Given the description of an element on the screen output the (x, y) to click on. 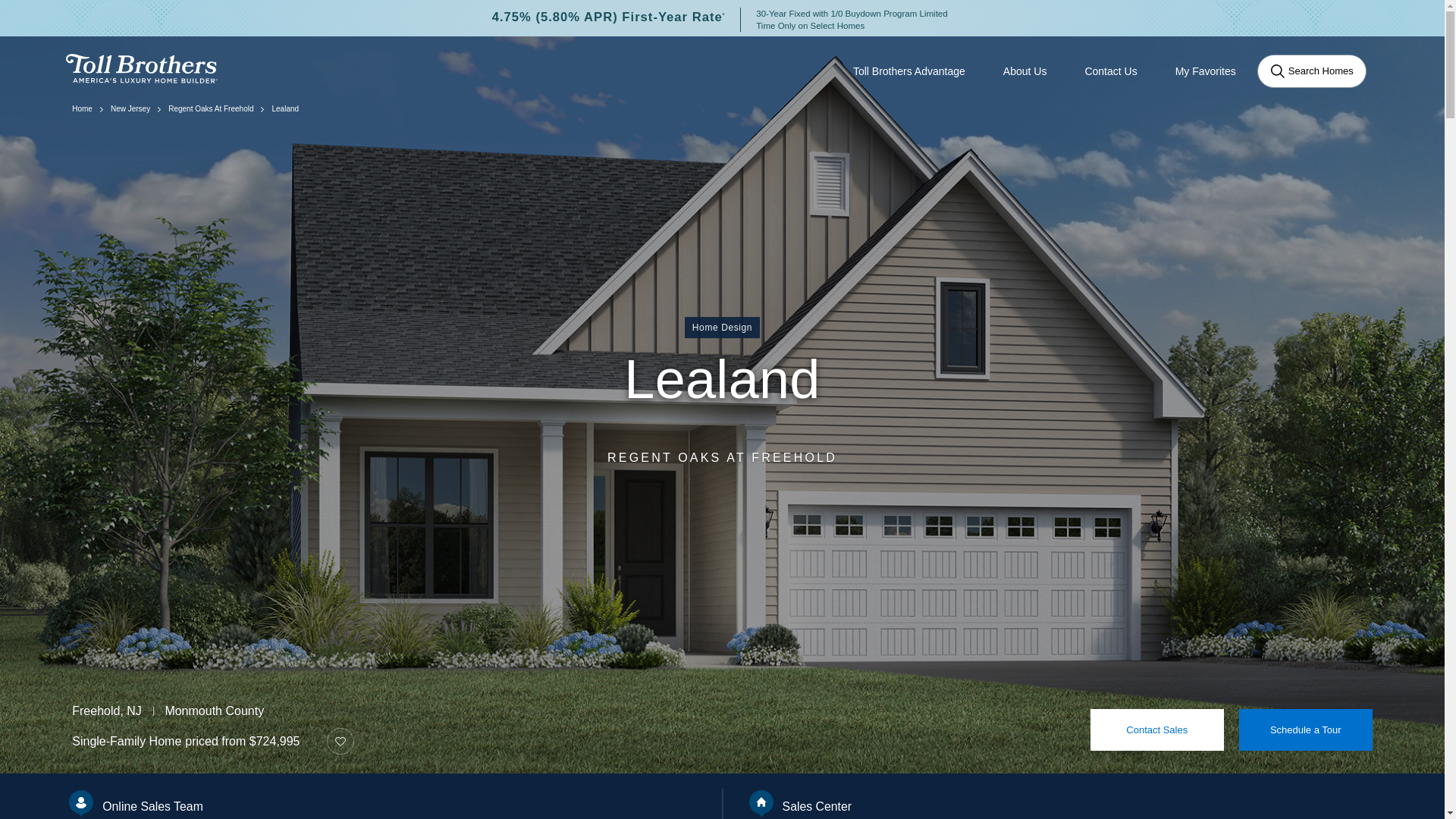
Toll Brothers Advantage (909, 71)
New Jersey (129, 108)
New Jersey (129, 108)
Contact Us (1110, 71)
Contact Sales (1157, 730)
Regent Oaks at Freehold (210, 108)
Regent Oaks At Freehold (210, 108)
About Us (1024, 71)
Toll Brothers Advantage (909, 71)
Home (82, 108)
Schedule a Tour (1306, 730)
Contact Us (1110, 71)
My Favorites (1205, 71)
About Us (1024, 71)
Search Homes (1312, 70)
